Given the description of an element on the screen output the (x, y) to click on. 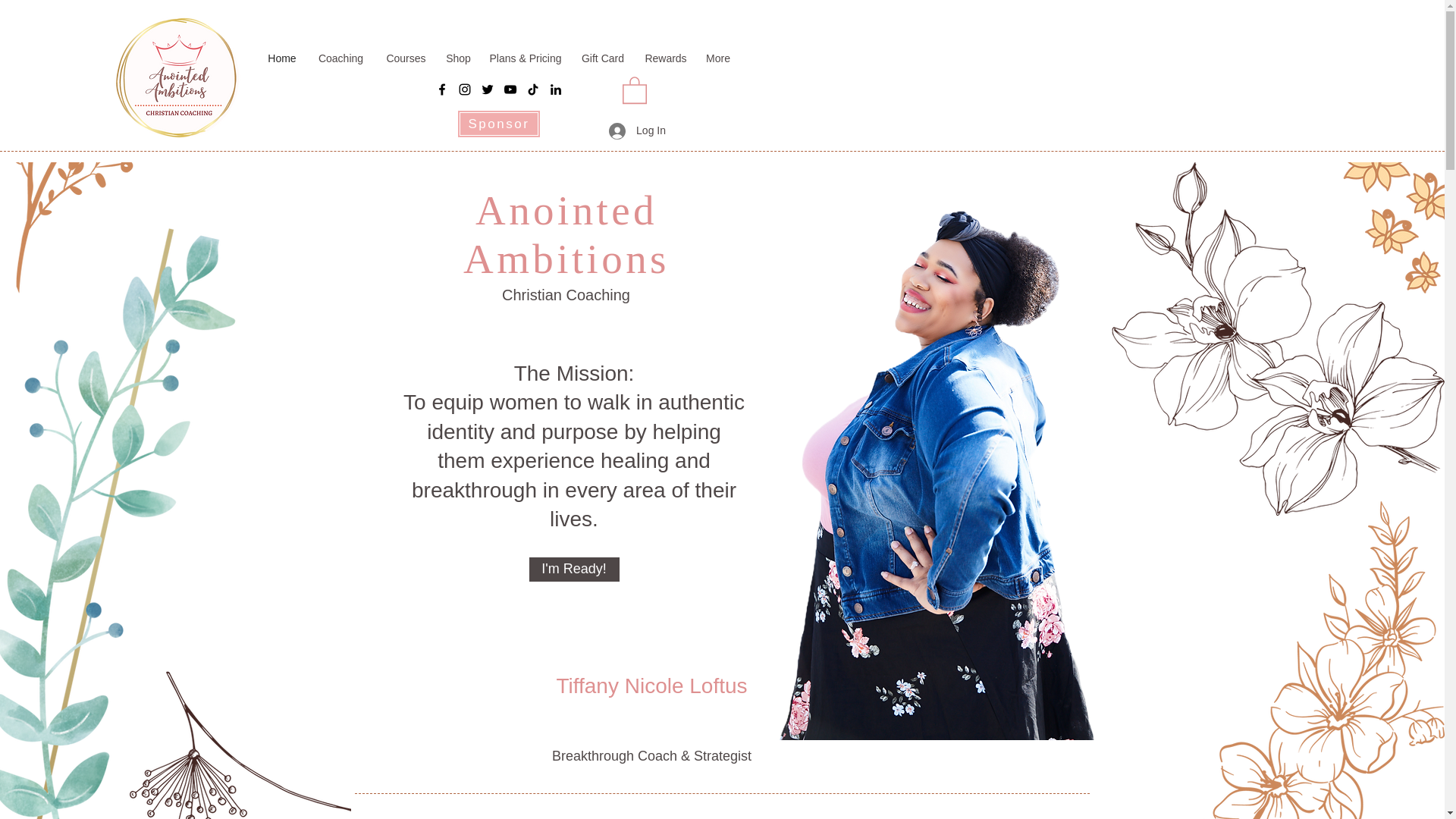
Gift Card (602, 57)
I'm Ready! (574, 569)
Rewards (665, 57)
Home (281, 57)
Shop (458, 57)
Courses (405, 57)
Coaching (340, 57)
Log In (637, 130)
Sponsor (498, 123)
